Given the description of an element on the screen output the (x, y) to click on. 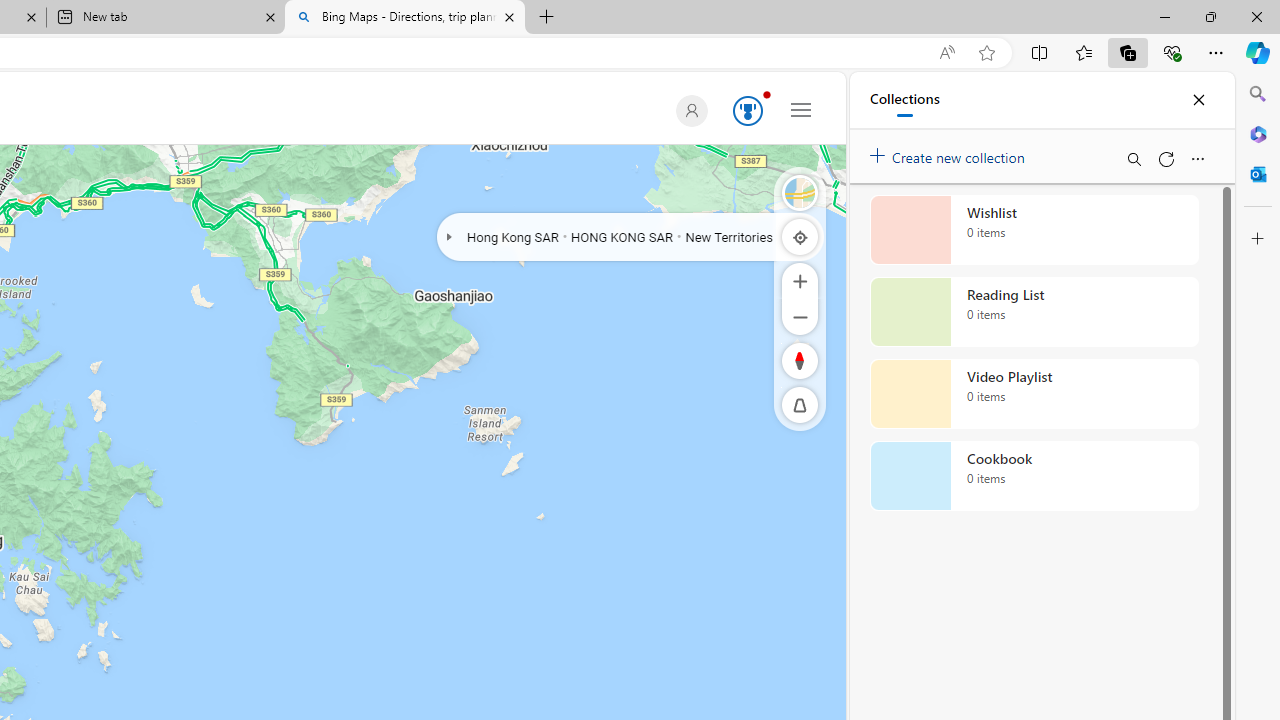
Reading List collection, 0 items (1034, 312)
AutomationID: rh_meter (748, 110)
Create new collection (950, 153)
Expand/Collapse Geochain (448, 236)
Default Profile Picture (687, 110)
Bird's eye (799, 192)
